Given the description of an element on the screen output the (x, y) to click on. 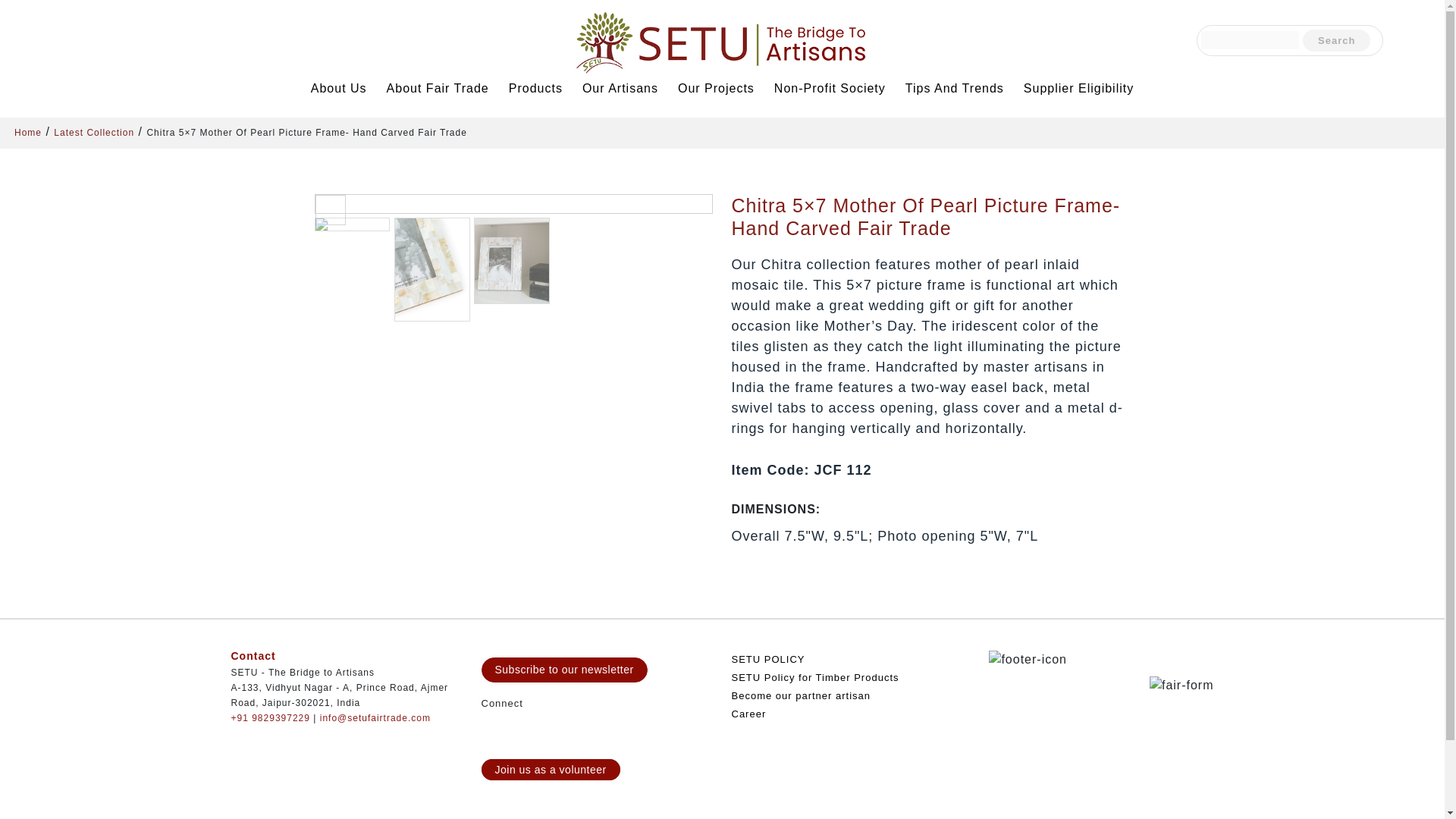
Search (1336, 40)
About Fair Trade (439, 88)
Products (537, 88)
Search (1336, 40)
About Us (340, 88)
